Given the description of an element on the screen output the (x, y) to click on. 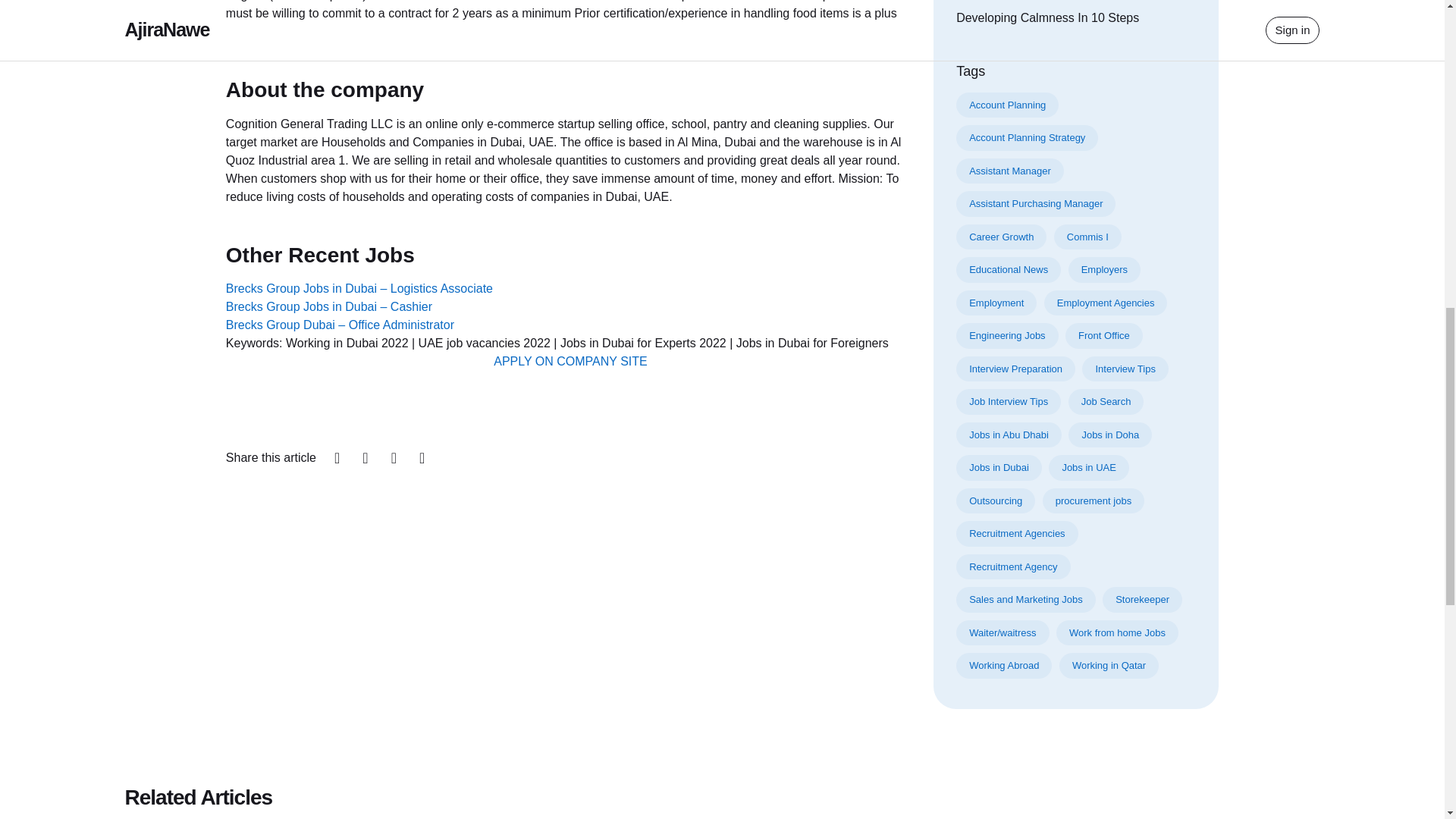
APPLY ON COMPANY SITE (569, 360)
